Given the description of an element on the screen output the (x, y) to click on. 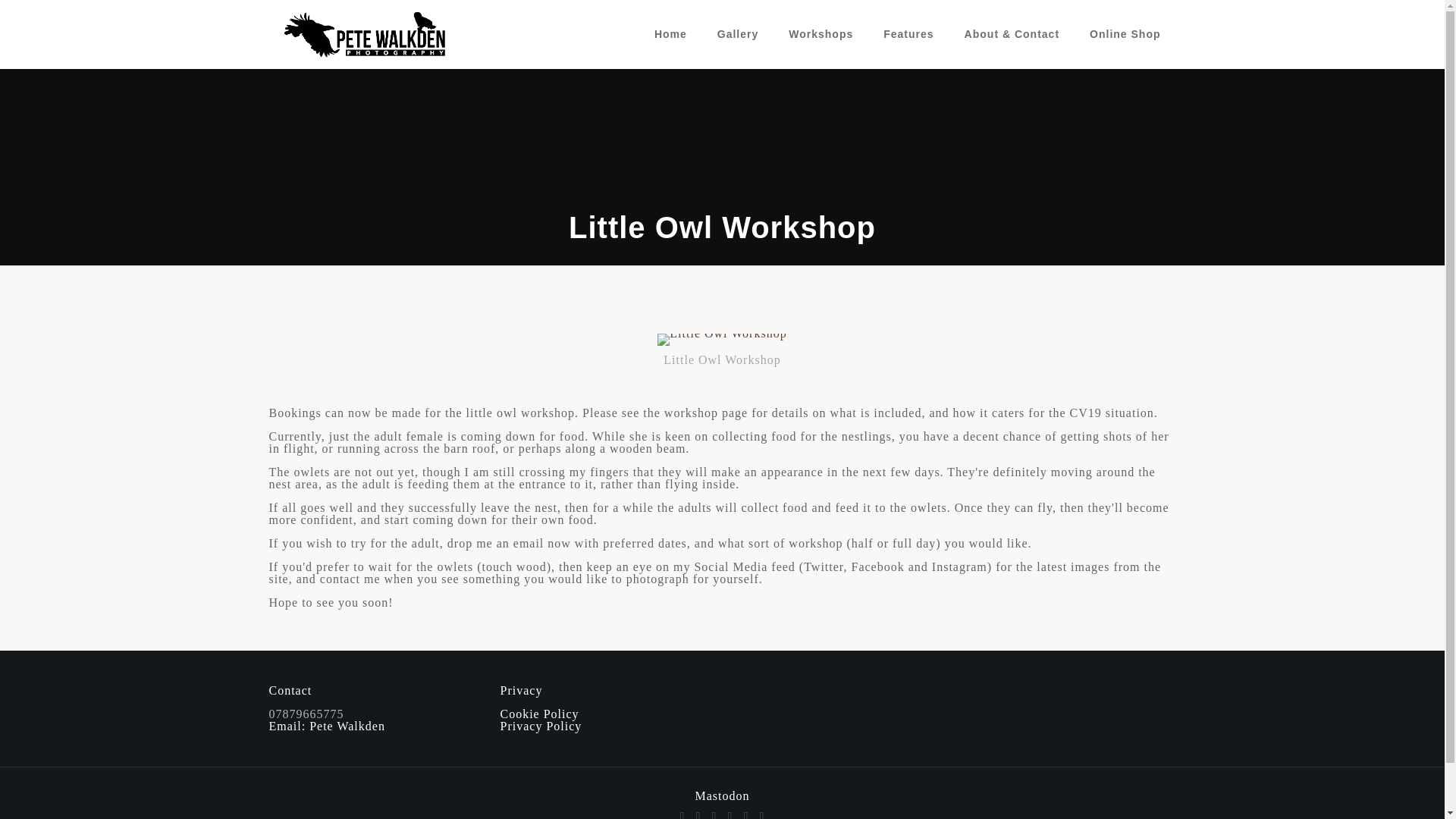
Flickr (730, 814)
YouTube (713, 814)
Facebook (682, 814)
Workshops (820, 33)
Home (670, 33)
Pete Walkden Photography (364, 33)
Gallery (737, 33)
Instagram (745, 814)
Features (908, 33)
